Given the description of an element on the screen output the (x, y) to click on. 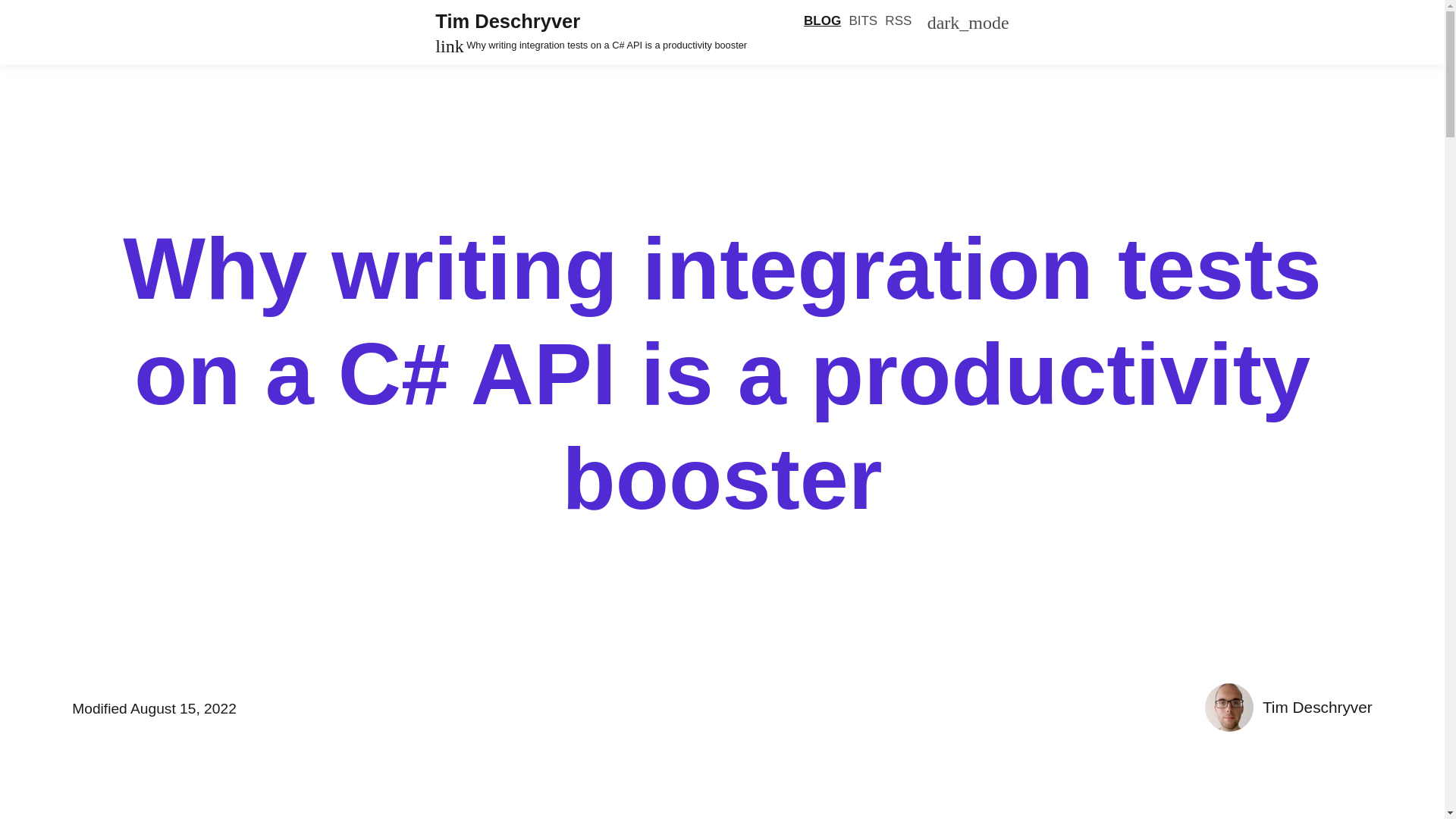
BITS (862, 21)
Switch to dark theme (968, 21)
RSS (898, 21)
BLOG (822, 21)
Tim Deschryver (507, 20)
